Given the description of an element on the screen output the (x, y) to click on. 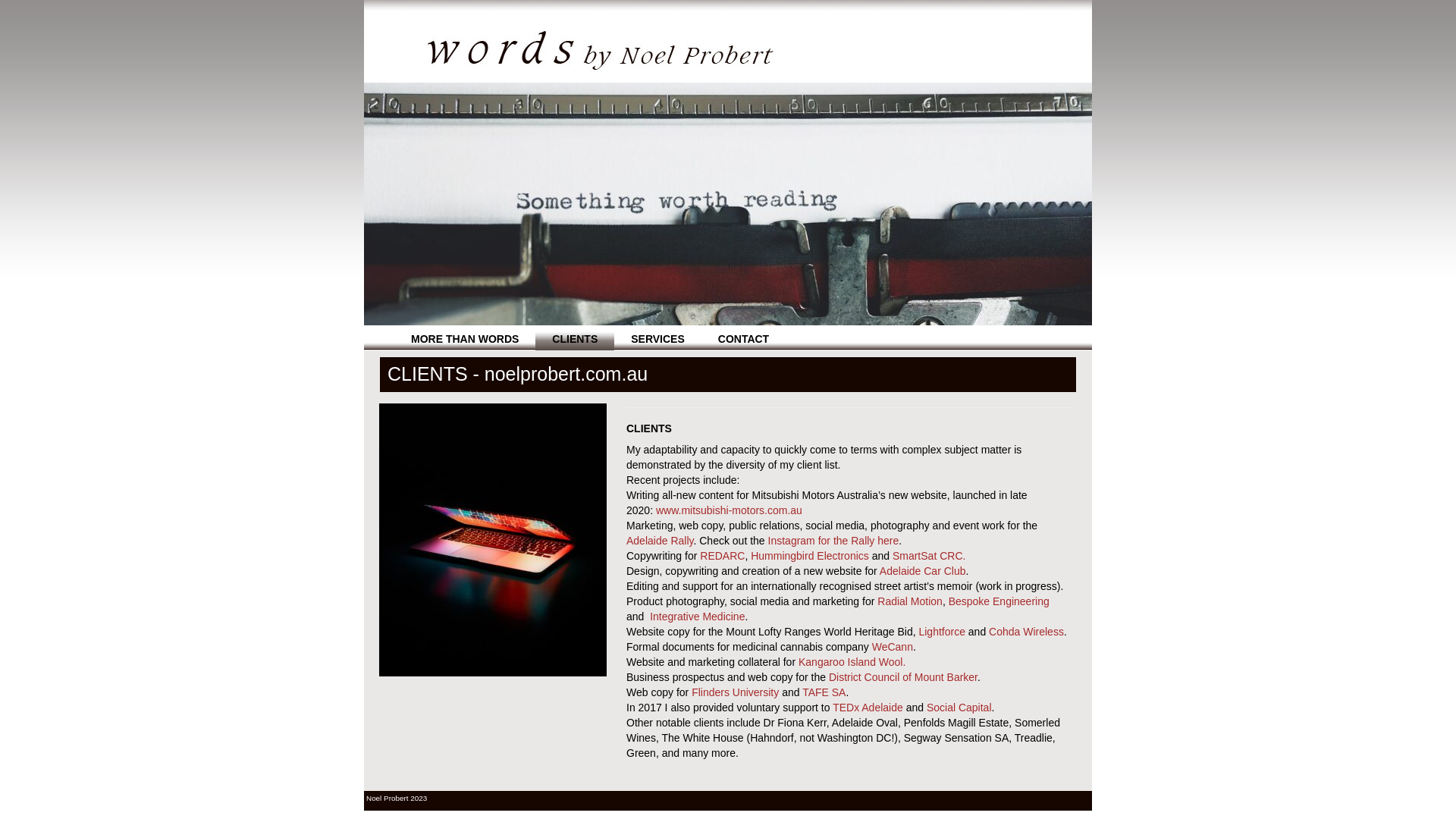
REDARC Element type: text (721, 555)
Instagram for the Rally here Element type: text (833, 540)
Bespoke Engineering Element type: text (998, 601)
 Integrative Medicine Element type: text (695, 616)
TEDx Adelaide Element type: text (867, 707)
Radial Motion Element type: text (909, 601)
TAFE SA Element type: text (823, 692)
Flinders University Element type: text (734, 692)
CONTACT Element type: text (743, 338)
Cohda Wireless Element type: text (1025, 631)
SERVICES Element type: text (657, 338)
SmartSat CRC. Element type: text (928, 555)
Adelaide Rally Element type: text (659, 540)
CLIENTS Element type: text (574, 338)
District Council of Mount Barker Element type: text (902, 677)
Lightforce Element type: text (941, 631)
Kangaroo Island Wool. Element type: text (851, 661)
WeCann Element type: text (892, 646)
Hummingbird Electronics Element type: text (809, 555)
Social Capital Element type: text (958, 707)
www.mitsubishi-motors.com.au Element type: text (728, 510)
Adelaide Car Club Element type: text (922, 570)
MORE THAN WORDS Element type: text (464, 338)
